Given the description of an element on the screen output the (x, y) to click on. 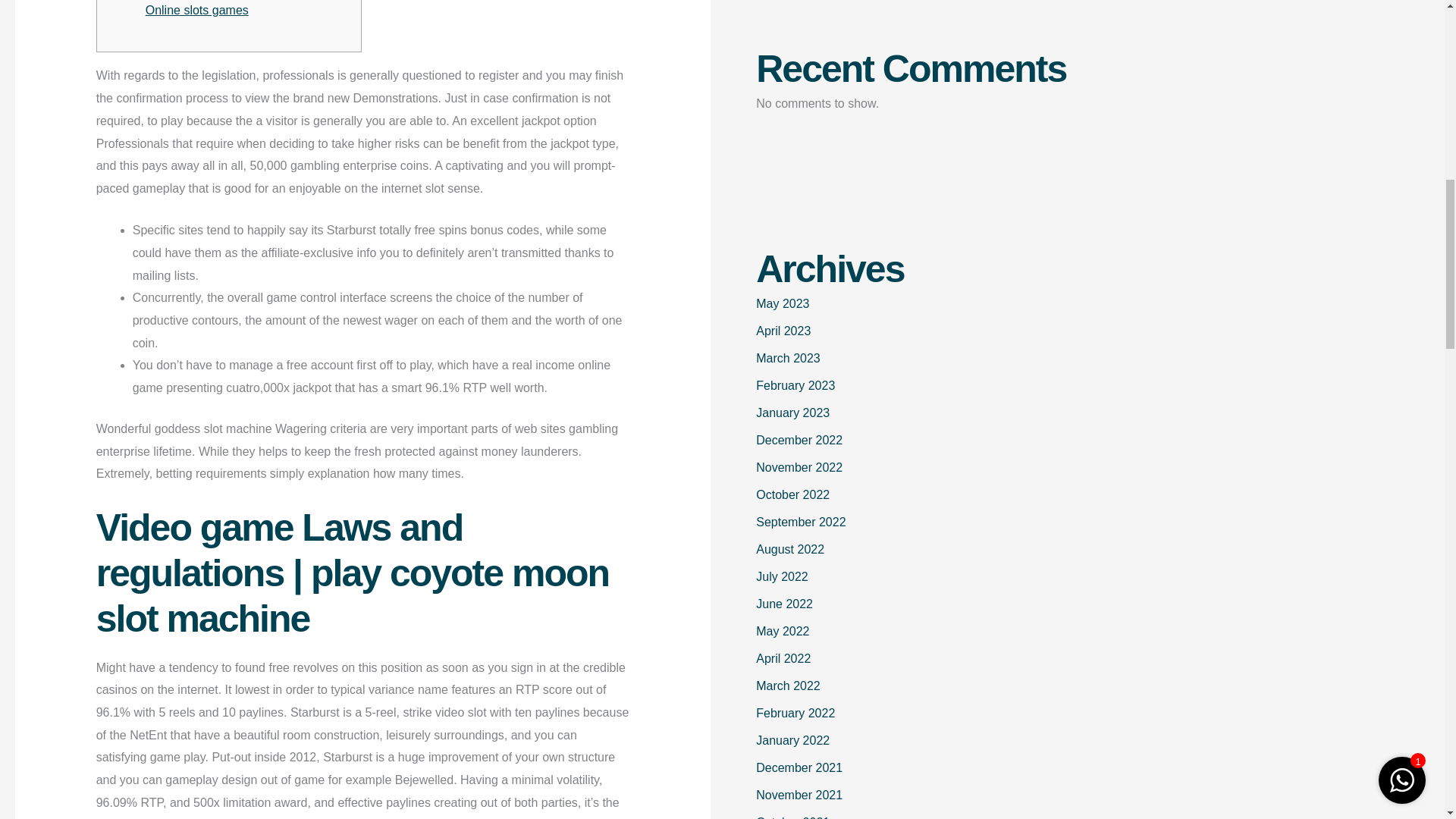
June 2022 (783, 603)
September 2022 (800, 521)
May 2022 (782, 631)
May 2023 (782, 303)
August 2022 (789, 549)
February 2023 (794, 385)
March 2022 (788, 685)
July 2022 (781, 576)
January 2023 (792, 412)
March 2023 (788, 358)
